Given the description of an element on the screen output the (x, y) to click on. 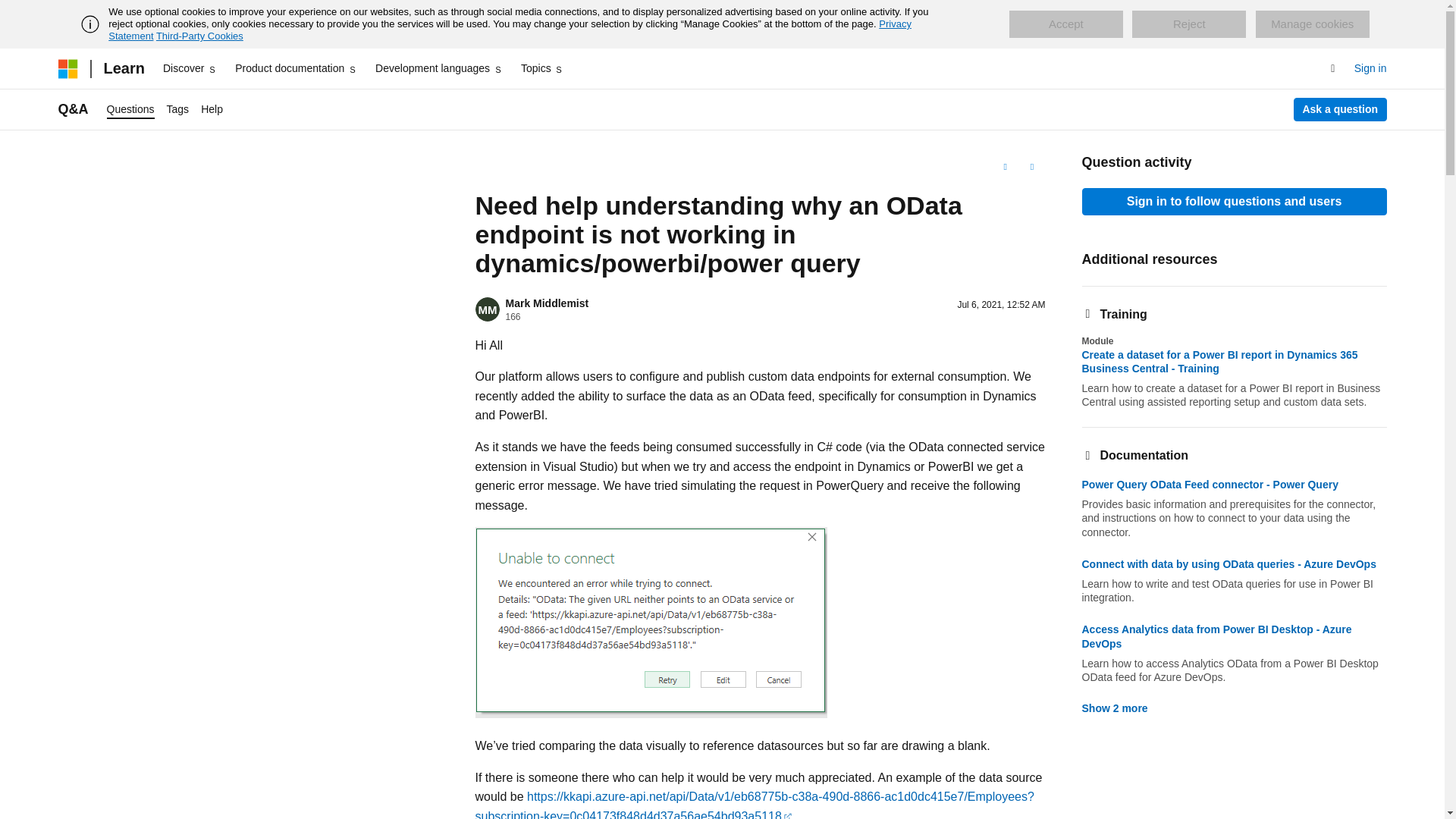
Reputation points (512, 317)
Questions (130, 109)
Third-Party Cookies (199, 35)
Ask a question (1340, 109)
Mark Middlemist (546, 303)
Topics (542, 68)
Product documentation (295, 68)
Share this question (1031, 166)
Discover (189, 68)
Skip to main content (11, 11)
